Given the description of an element on the screen output the (x, y) to click on. 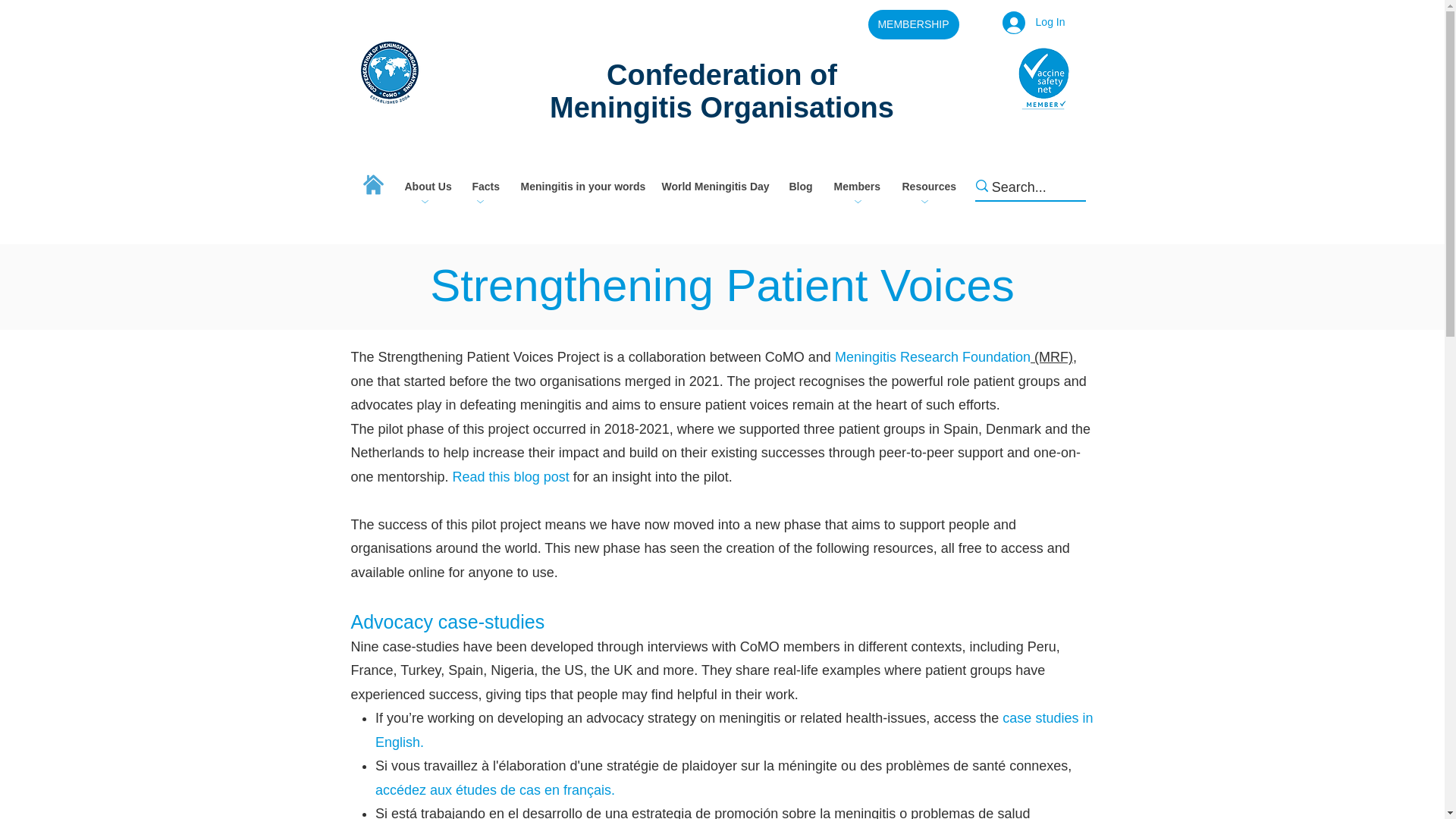
Members (855, 186)
Meningitis in your words (578, 186)
Confederation of Meningitis  (693, 90)
World Meningitis Day (712, 186)
Facts (484, 186)
Blog (798, 186)
MEMBERSHIP (912, 24)
Meningitis Research Foundation (932, 356)
About Us (426, 186)
Organisations (796, 107)
